Given the description of an element on the screen output the (x, y) to click on. 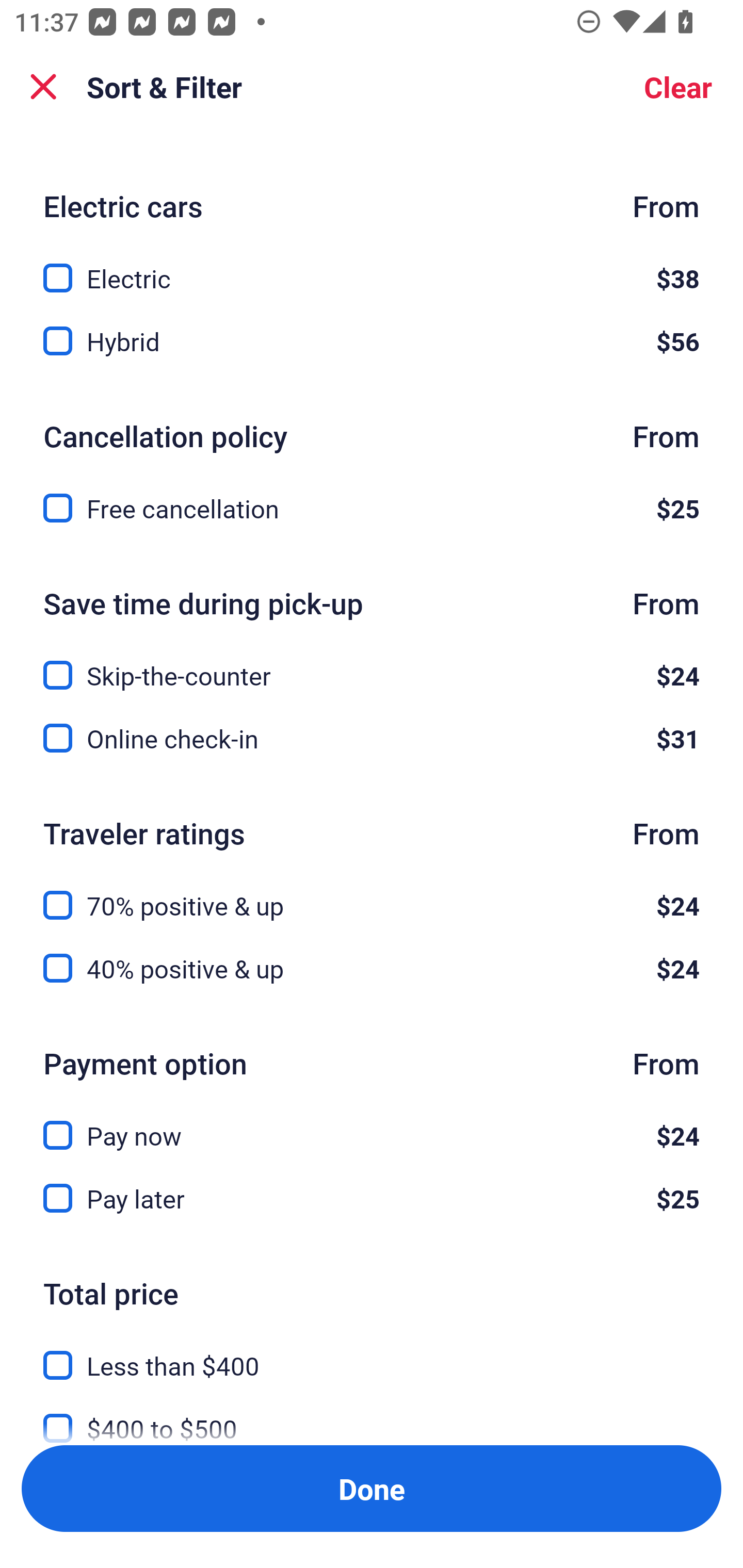
Close Sort and Filter (43, 86)
Clear (677, 86)
Electric, $38 Electric $38 (371, 266)
Hybrid, $56 Hybrid $56 (371, 340)
Free cancellation, $25 Free cancellation $25 (371, 508)
Skip-the-counter, $24 Skip-the-counter $24 (371, 662)
Online check-in, $31 Online check-in $31 (371, 738)
70% positive & up, $24 70% positive & up $24 (371, 893)
40% positive & up, $24 40% positive & up $24 (371, 968)
Pay now, $24 Pay now $24 (371, 1123)
Pay later, $25 Pay later $25 (371, 1198)
Less than $400, Less than $400 (371, 1353)
$400 to $500, $400 to $500 (371, 1415)
Apply and close Sort and Filter Done (371, 1488)
